Given the description of an element on the screen output the (x, y) to click on. 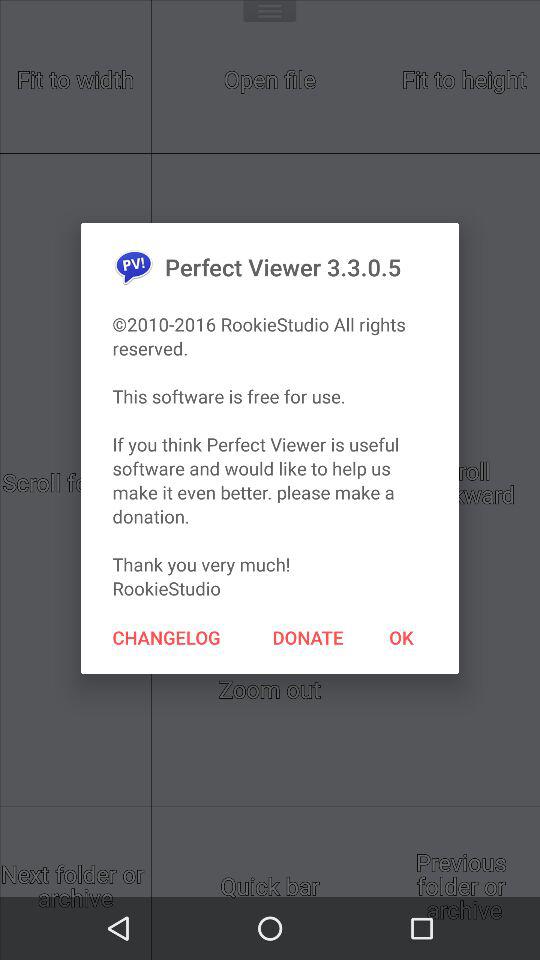
select the icon next to the donate item (166, 637)
